Given the description of an element on the screen output the (x, y) to click on. 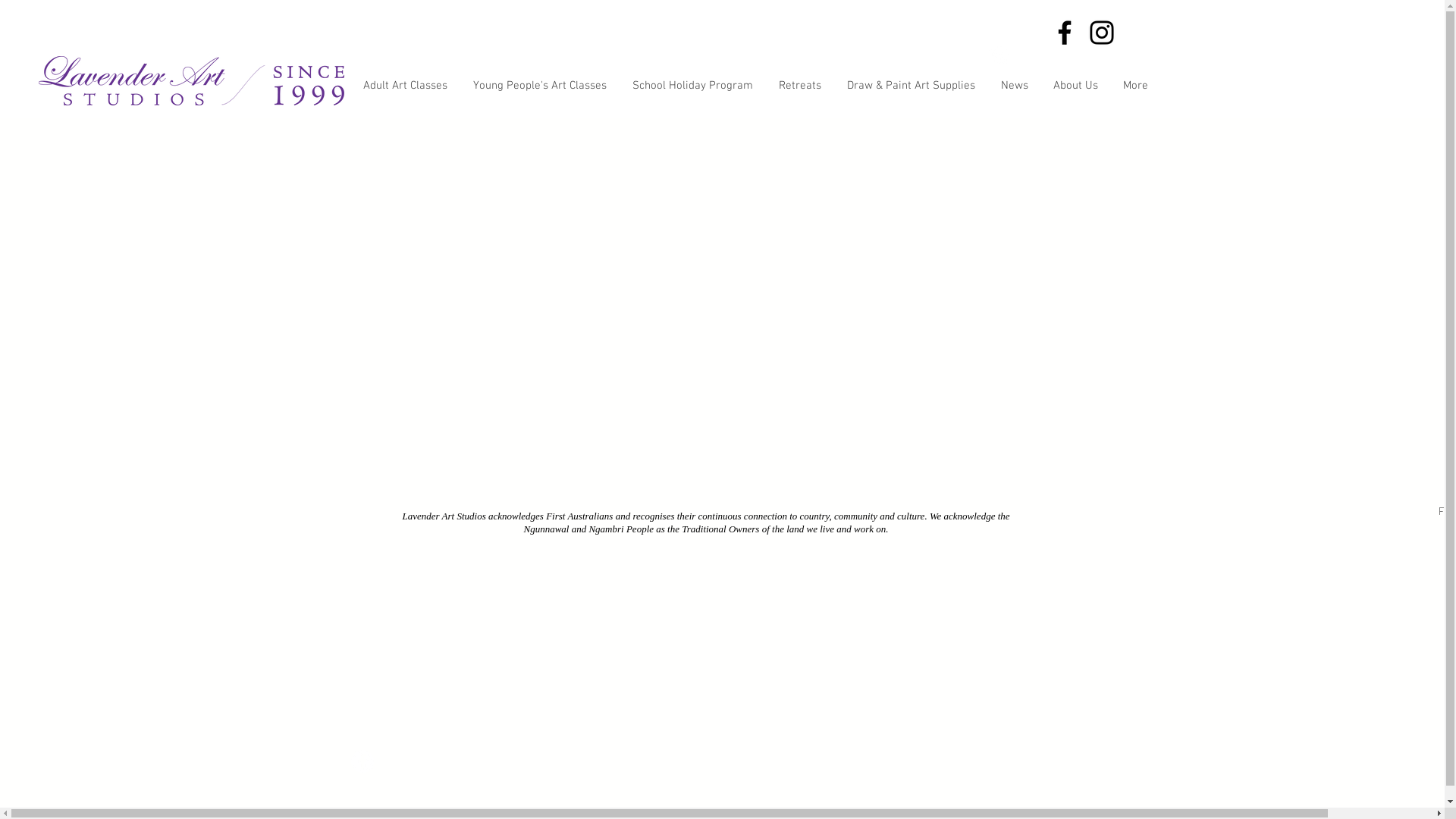
School Holiday Program Element type: text (691, 85)
Adult Art Classes Element type: text (404, 85)
Young People's Art Classes Element type: text (538, 85)
About Us Element type: text (1075, 85)
LAS-logo_white.png Element type: hover (190, 80)
Draw & Paint Art Supplies Element type: text (911, 85)
News Element type: text (1013, 85)
Facebook Like Element type: hover (1324, 520)
Retreats Element type: text (799, 85)
